Given the description of an element on the screen output the (x, y) to click on. 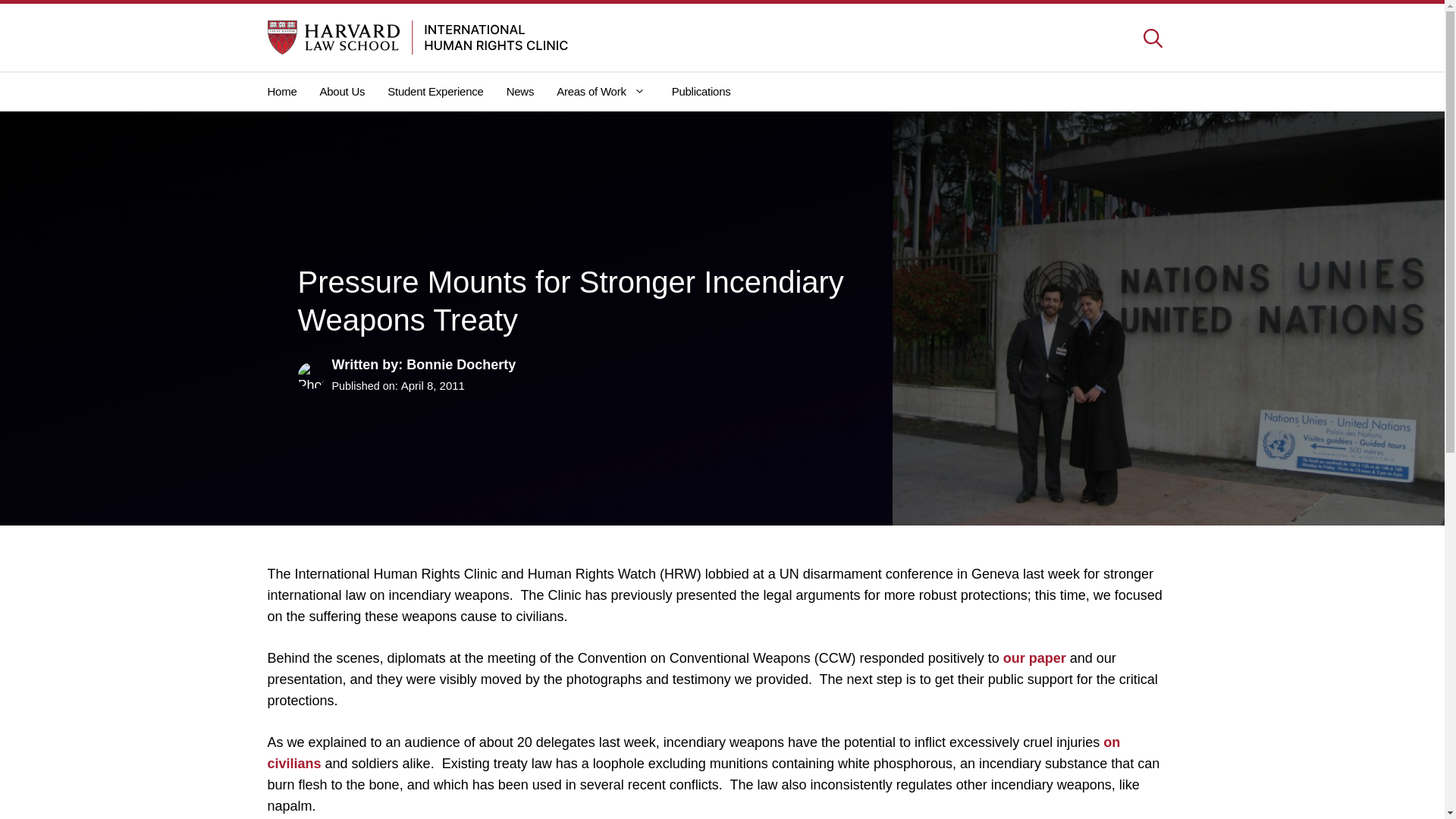
News (520, 90)
Areas of Work (602, 90)
About Us (342, 90)
Publications (701, 90)
Home (286, 90)
Student Experience (435, 90)
on civilians (692, 752)
our paper (1034, 657)
